Given the description of an element on the screen output the (x, y) to click on. 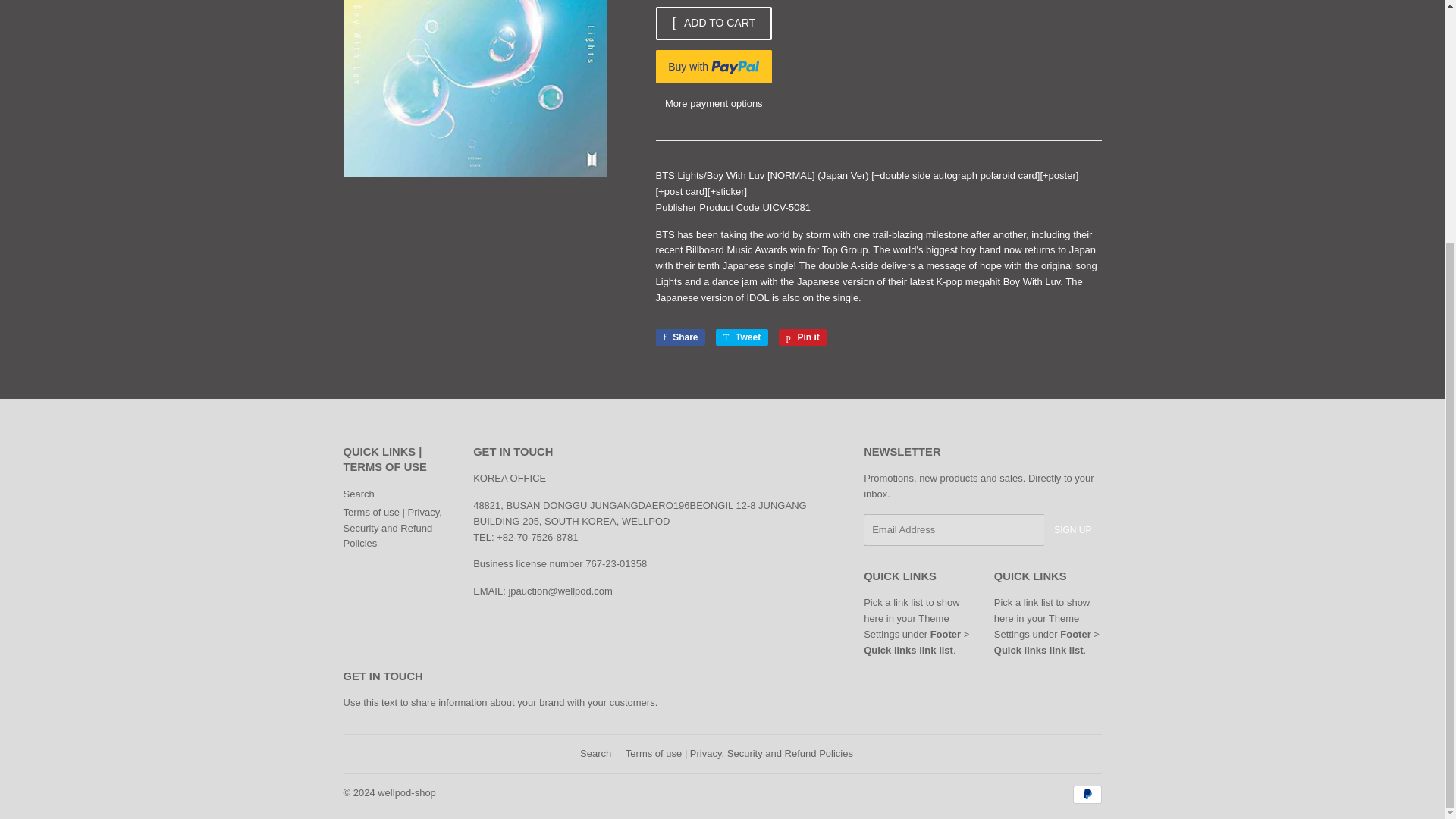
Theme Settings (906, 625)
Share on Facebook (679, 337)
Tweet on Twitter (742, 337)
Search (679, 337)
More payment options (595, 753)
PayPal (713, 104)
Search (1085, 794)
Pin on Pinterest (742, 337)
Theme Settings (358, 493)
ADD TO CART (802, 337)
wellpod-shop (802, 337)
SIGN UP (1037, 625)
